Given the description of an element on the screen output the (x, y) to click on. 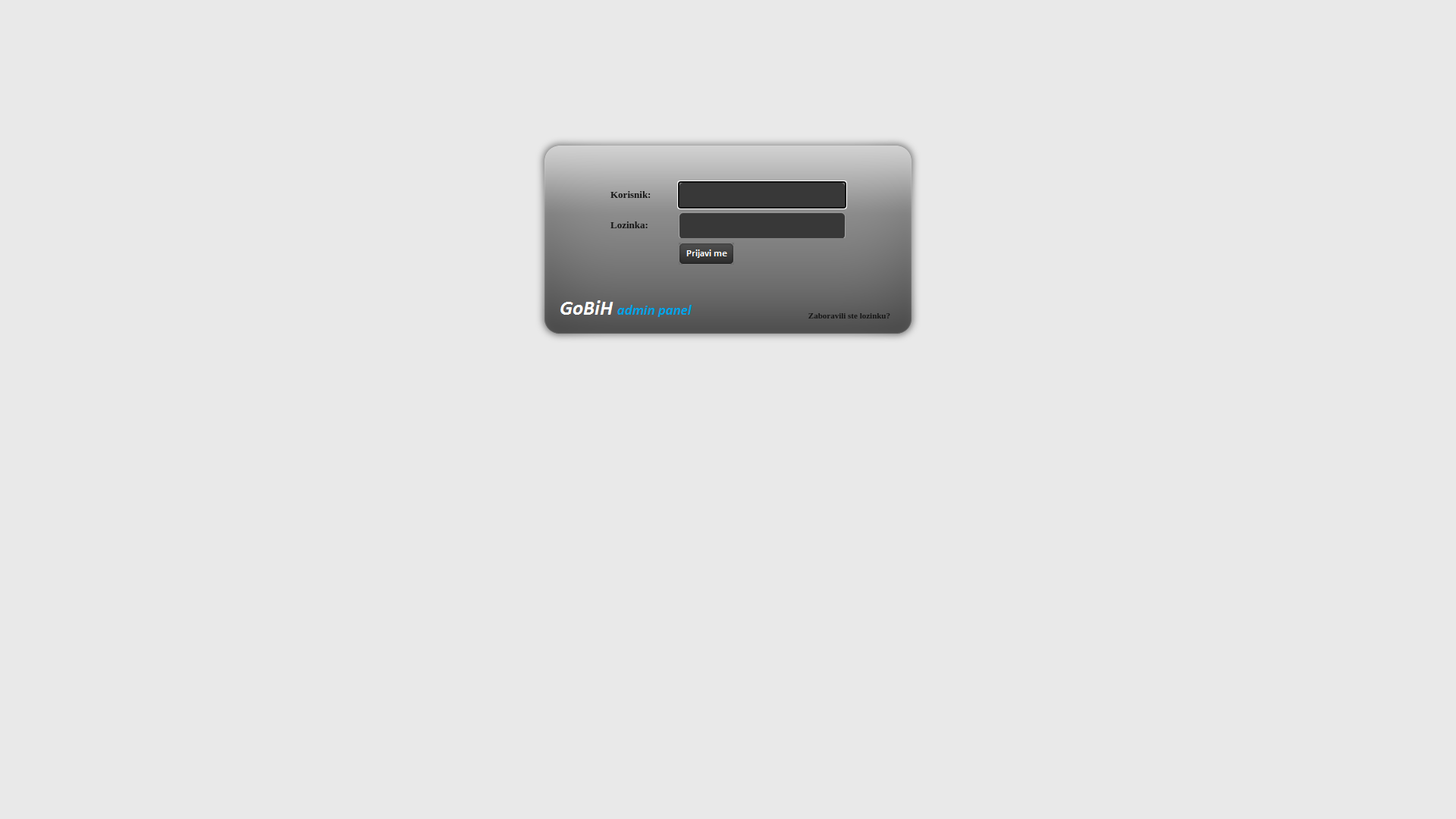
Zaboravili ste lozinku? Element type: text (849, 315)
